Given the description of an element on the screen output the (x, y) to click on. 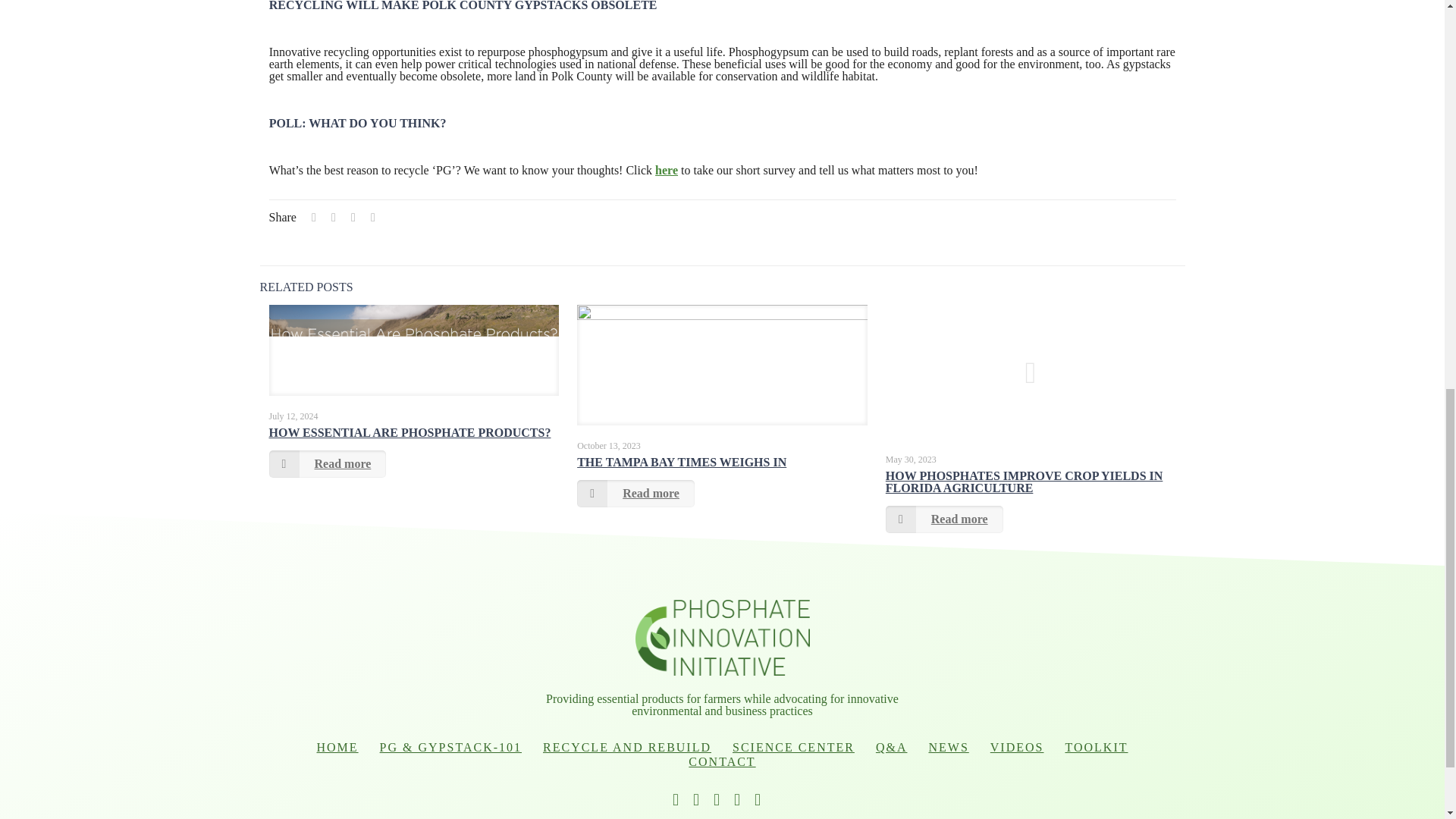
Read more (944, 519)
here (666, 169)
Read more (326, 463)
HOW PHOSPHATES IMPROVE CROP YIELDS IN FLORIDA AGRICULTURE (1024, 481)
THE TAMPA BAY TIMES WEIGHS IN (681, 461)
HOME (337, 747)
Read more (635, 492)
HOW ESSENTIAL ARE PHOSPHATE PRODUCTS? (408, 431)
